Given the description of an element on the screen output the (x, y) to click on. 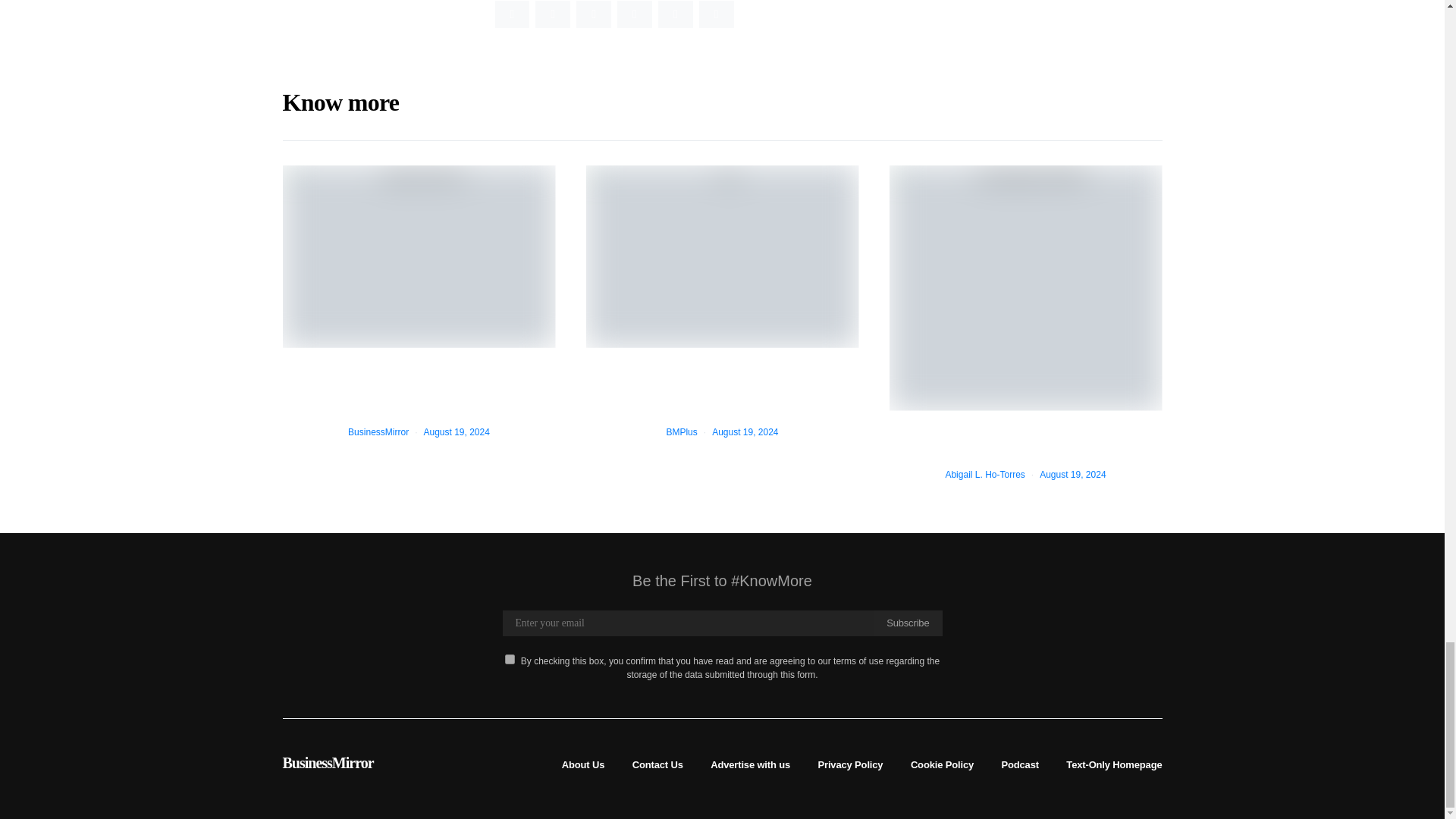
on (510, 659)
View all posts by Abigail L. Ho-Torres (984, 474)
View all posts by BMPlus (681, 431)
View all posts by BusinessMirror (378, 431)
